Given the description of an element on the screen output the (x, y) to click on. 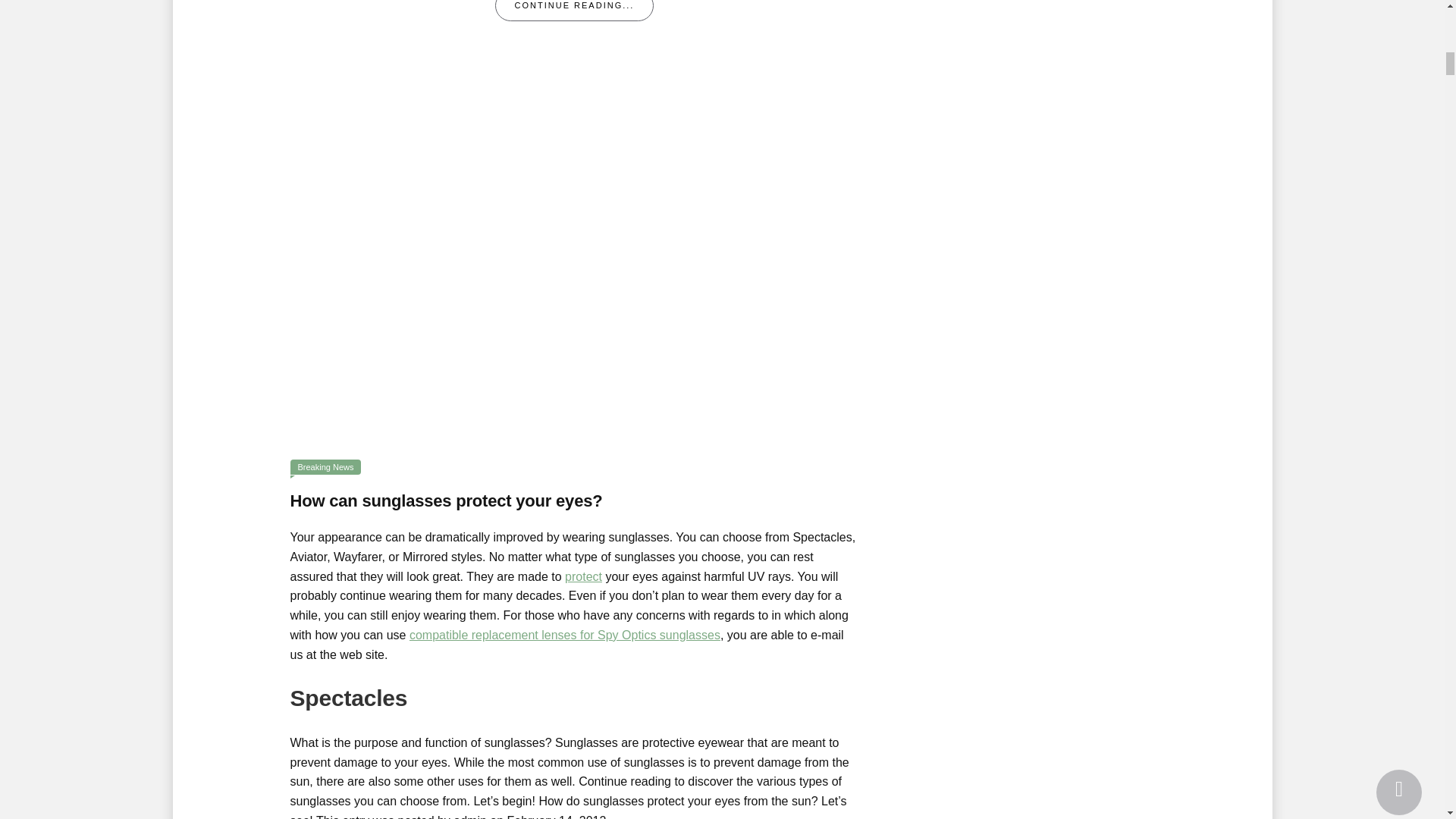
protect (583, 576)
compatible replacement lenses for Spy Optics sunglasses (564, 634)
Breaking News (325, 466)
How can sunglasses protect your eyes? (445, 500)
How can sunglasses protect your eyes? (574, 260)
CONTINUE READING... (574, 10)
